Given the description of an element on the screen output the (x, y) to click on. 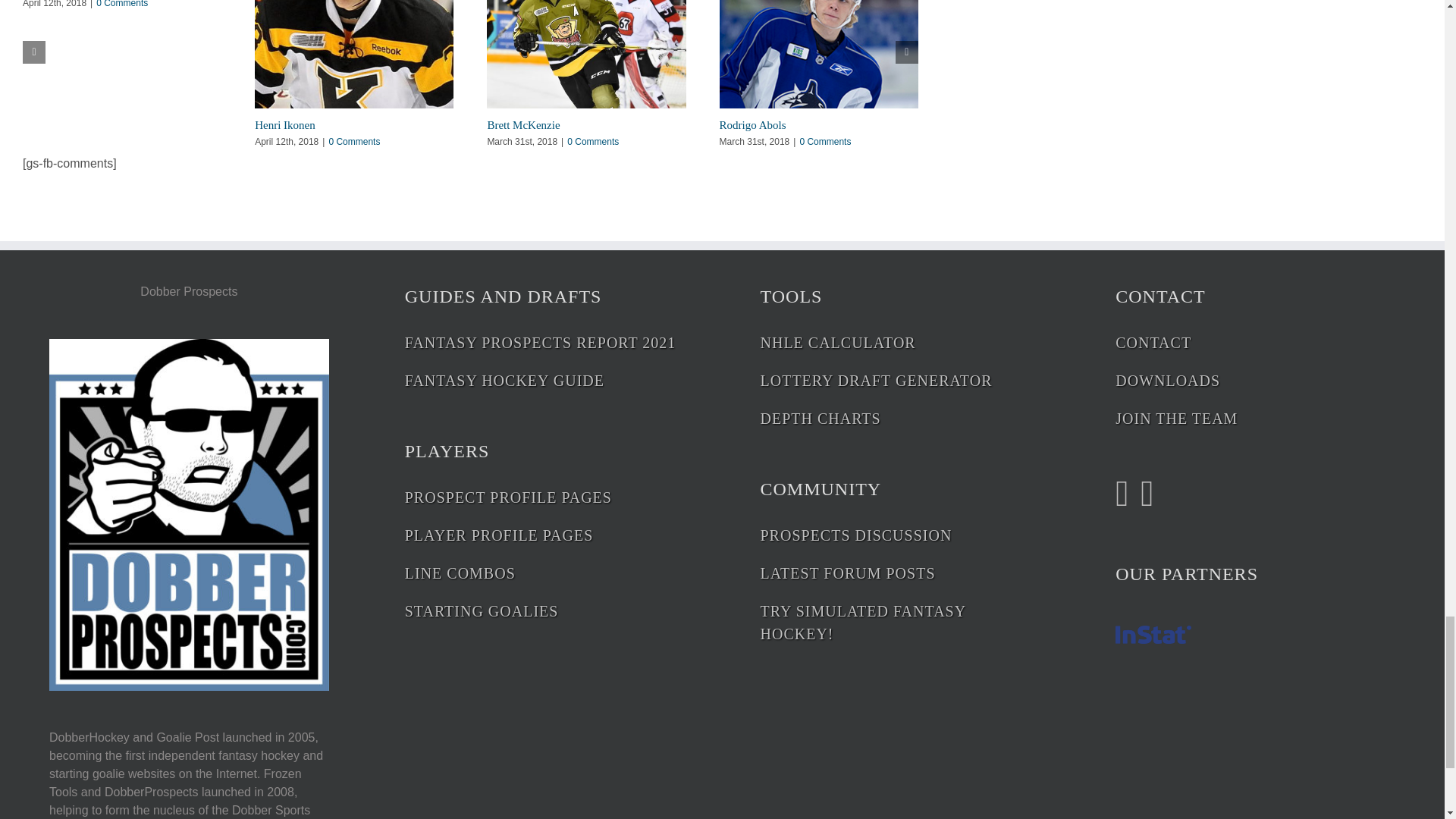
Brett McKenzie (522, 124)
Henri Ikonen (284, 124)
Rodrigo Abols (752, 124)
